Given the description of an element on the screen output the (x, y) to click on. 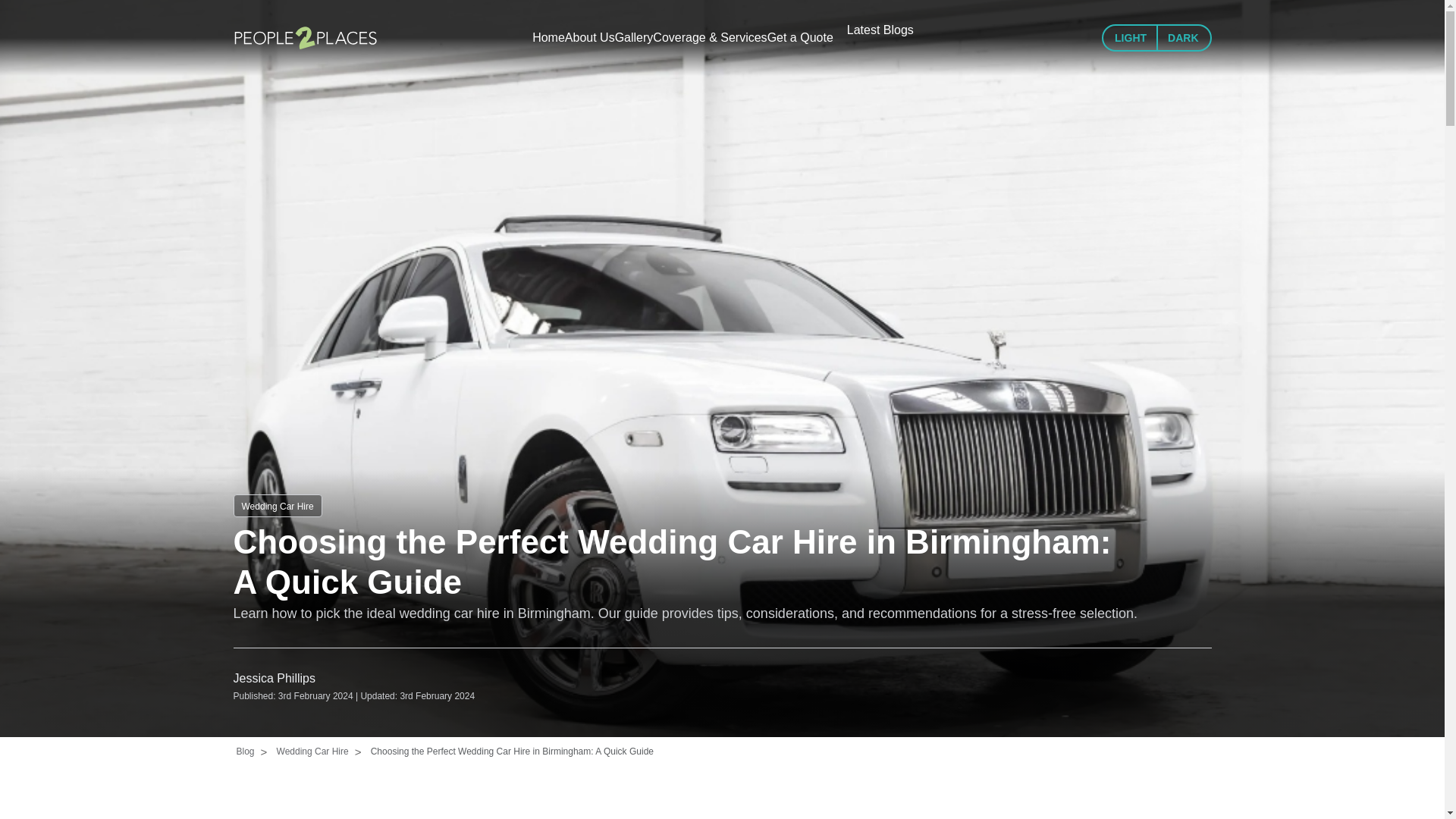
Get a Quote (799, 37)
Latest Blogs (880, 30)
Get a Quote (799, 37)
People 2 Places (304, 37)
Latest Blogs (880, 30)
